Given the description of an element on the screen output the (x, y) to click on. 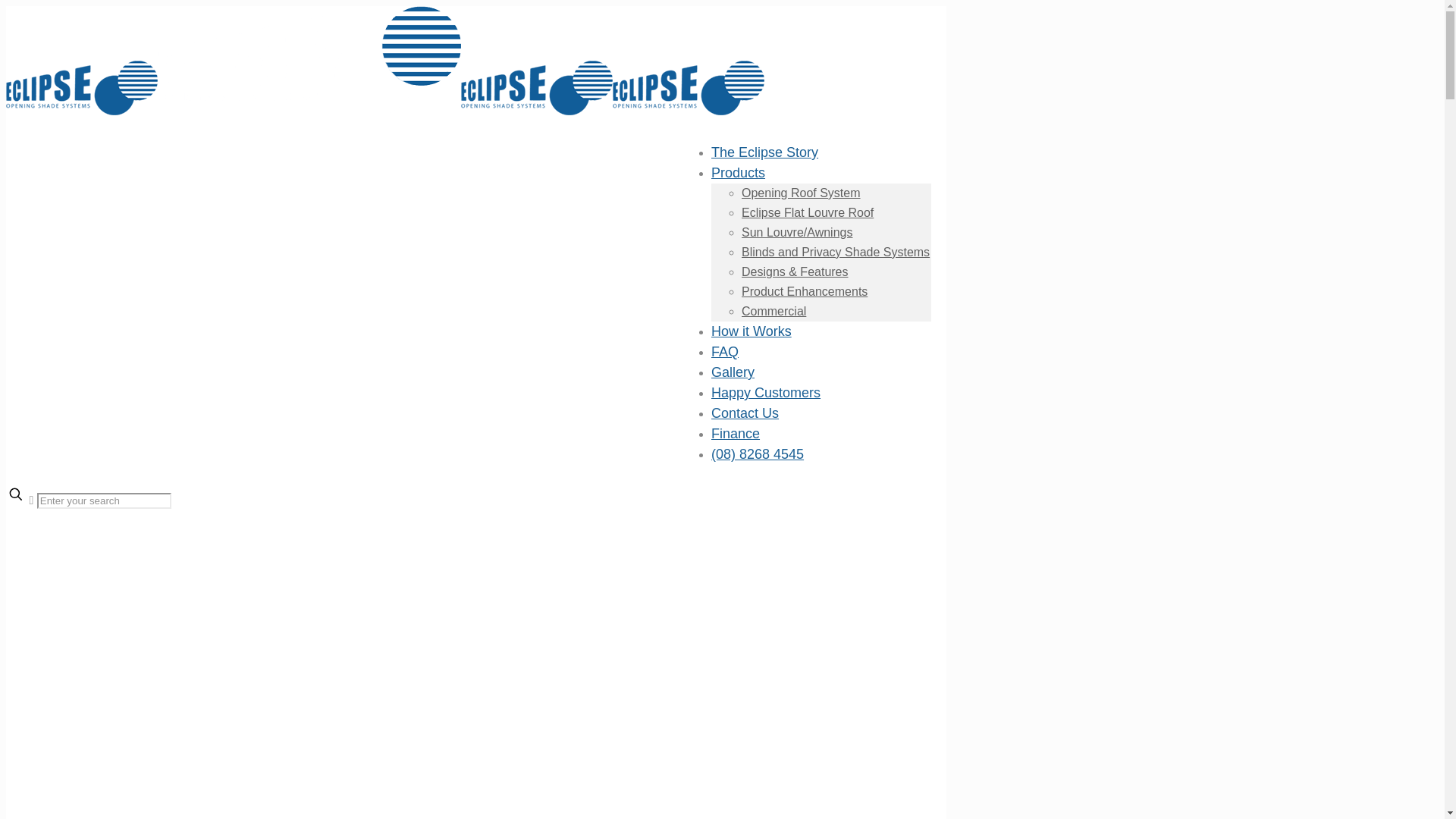
Gallery Element type: text (732, 372)
Contact Us Element type: text (744, 413)
FAQ Element type: text (724, 351)
Eclipse Flat Louvre Roof Element type: text (807, 212)
Blinds and Privacy Shade Systems Element type: text (835, 251)
Happy Customers Element type: text (765, 392)
Finance Element type: text (735, 433)
How it Works Element type: text (751, 331)
Product Enhancements Element type: text (804, 291)
Opening Roof System Element type: text (800, 192)
(08) 8268 4545 Element type: text (757, 454)
Sun Louvre/Awnings Element type: text (796, 231)
The Eclipse Story Element type: text (764, 152)
Eclipse Element type: hover (385, 110)
Designs & Features Element type: text (794, 271)
Commercial Element type: text (773, 310)
Products Element type: text (738, 172)
